Given the description of an element on the screen output the (x, y) to click on. 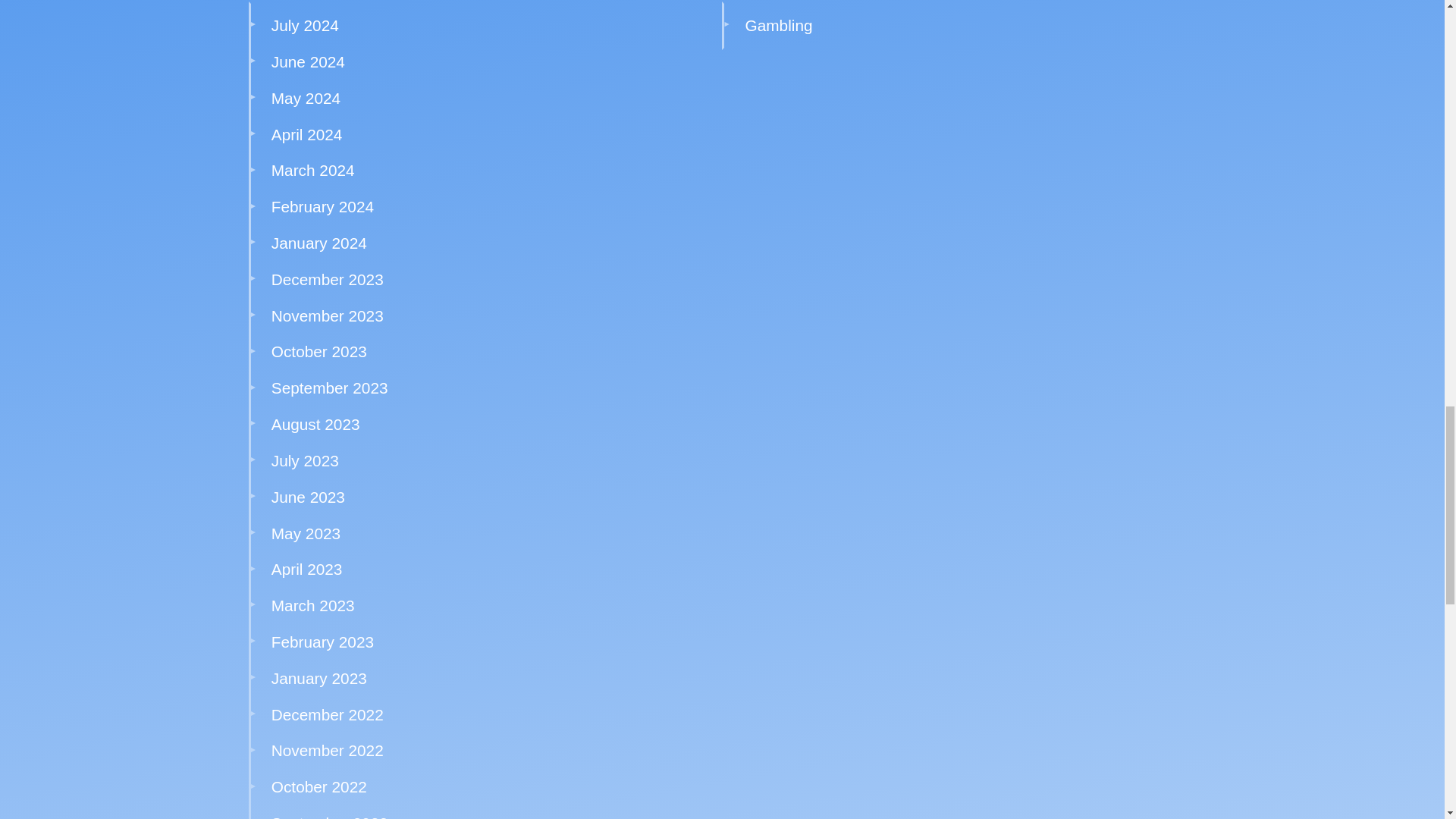
February 2023 (322, 641)
March 2024 (312, 170)
November 2023 (327, 315)
March 2023 (312, 605)
October 2022 (318, 786)
January 2024 (318, 242)
July 2024 (304, 25)
December 2022 (327, 714)
June 2024 (307, 61)
December 2023 (327, 279)
November 2022 (327, 750)
April 2024 (306, 134)
April 2023 (306, 569)
May 2023 (305, 533)
October 2023 (318, 351)
